Given the description of an element on the screen output the (x, y) to click on. 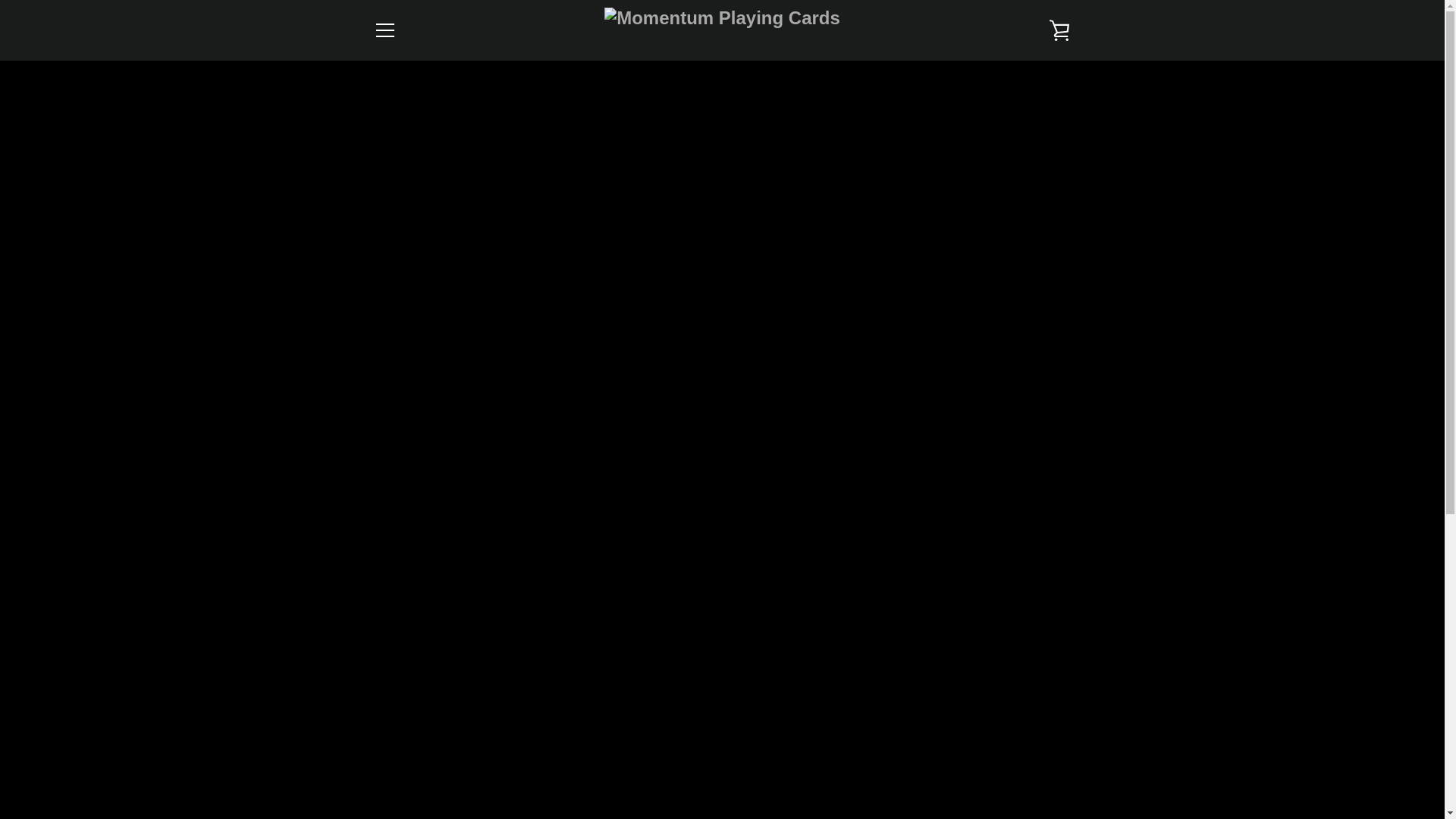
MENU (384, 30)
VIEW CART (1059, 30)
